Given the description of an element on the screen output the (x, y) to click on. 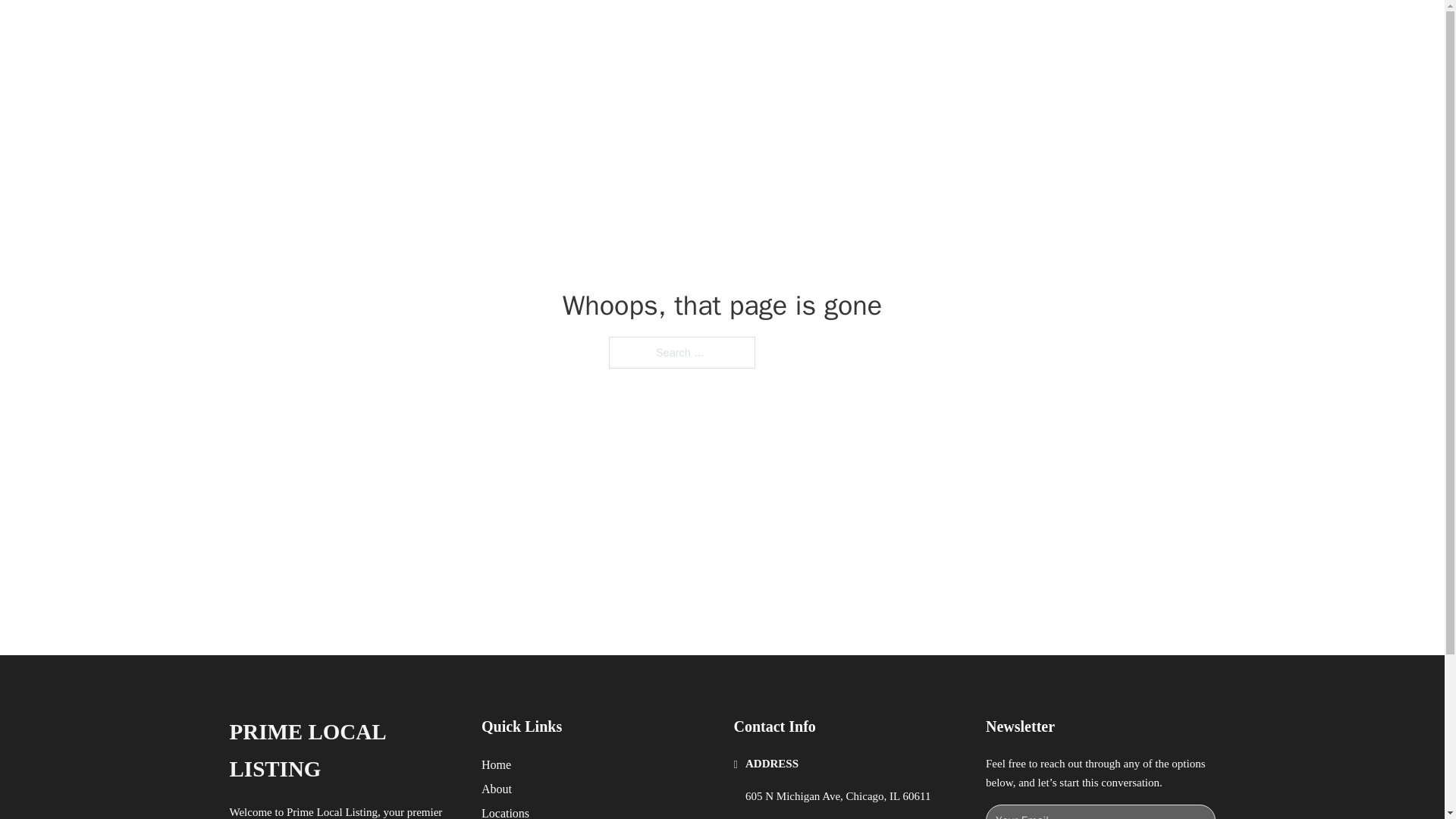
PRIME LOCAL LISTING (419, 28)
Locations (505, 811)
About (496, 788)
PRIME LOCAL LISTING (343, 750)
LOCATIONS (990, 29)
Home (496, 764)
HOME (919, 29)
